Given the description of an element on the screen output the (x, y) to click on. 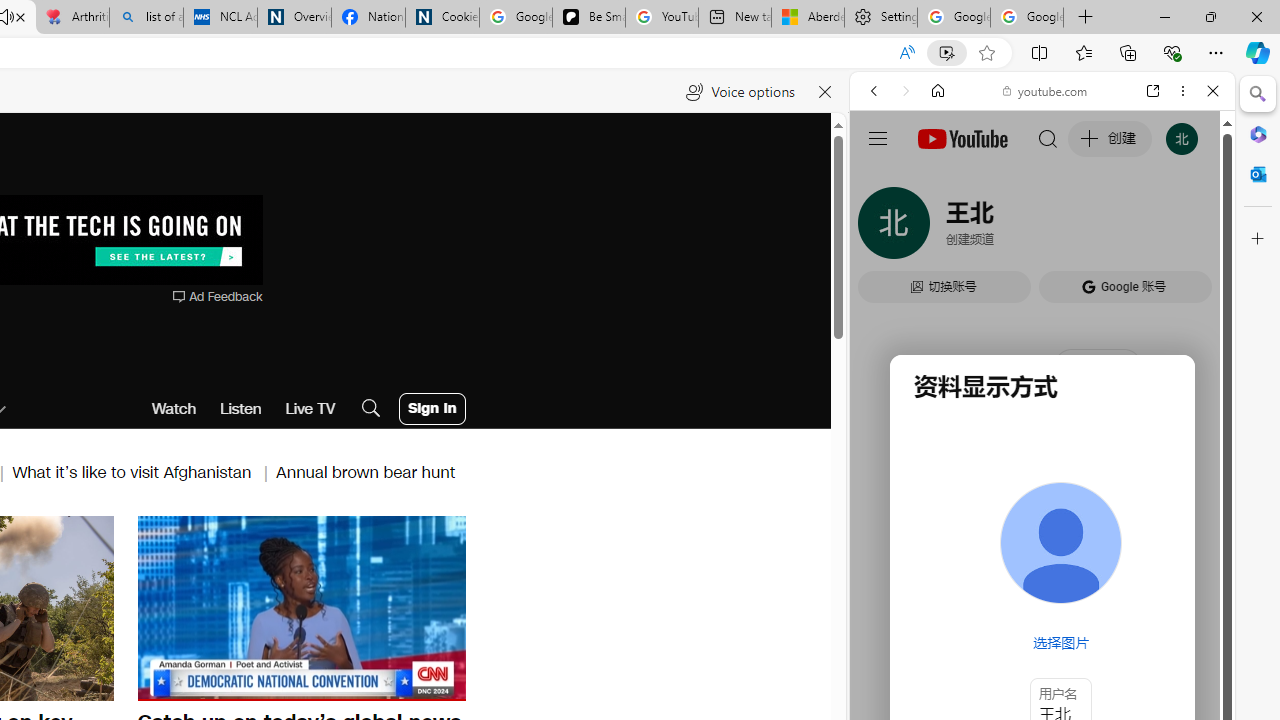
Captions Unavailable (350, 683)
Pause (301, 605)
Close read aloud (825, 92)
Search Icon (371, 408)
Pause (301, 608)
Options (394, 683)
Annual brown bear hunt (365, 471)
